Given the description of an element on the screen output the (x, y) to click on. 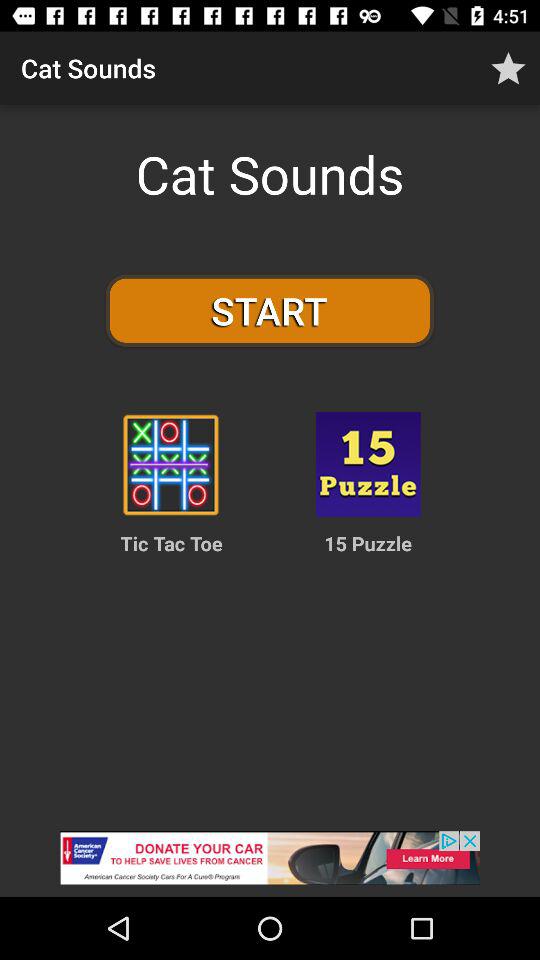
coles (170, 464)
